Given the description of an element on the screen output the (x, y) to click on. 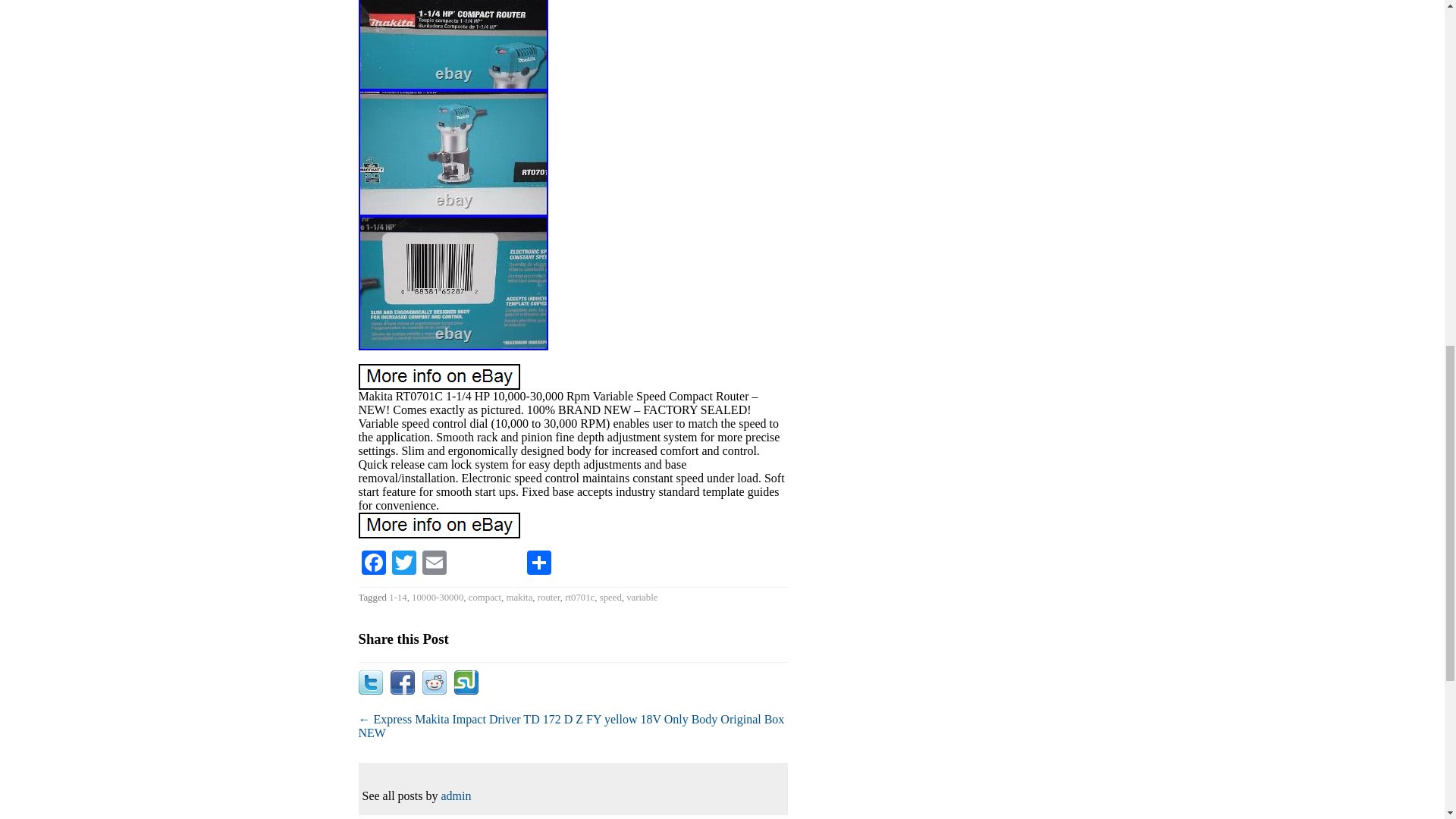
Facebook (373, 562)
Twitter (403, 562)
Facebook (373, 562)
Email (433, 562)
Email (433, 562)
makita (518, 597)
router (548, 597)
compact (484, 597)
1-14 (397, 597)
Twitter (403, 562)
rt0701c (579, 597)
speed (610, 597)
10000-30000 (437, 597)
variable (642, 597)
